Given the description of an element on the screen output the (x, y) to click on. 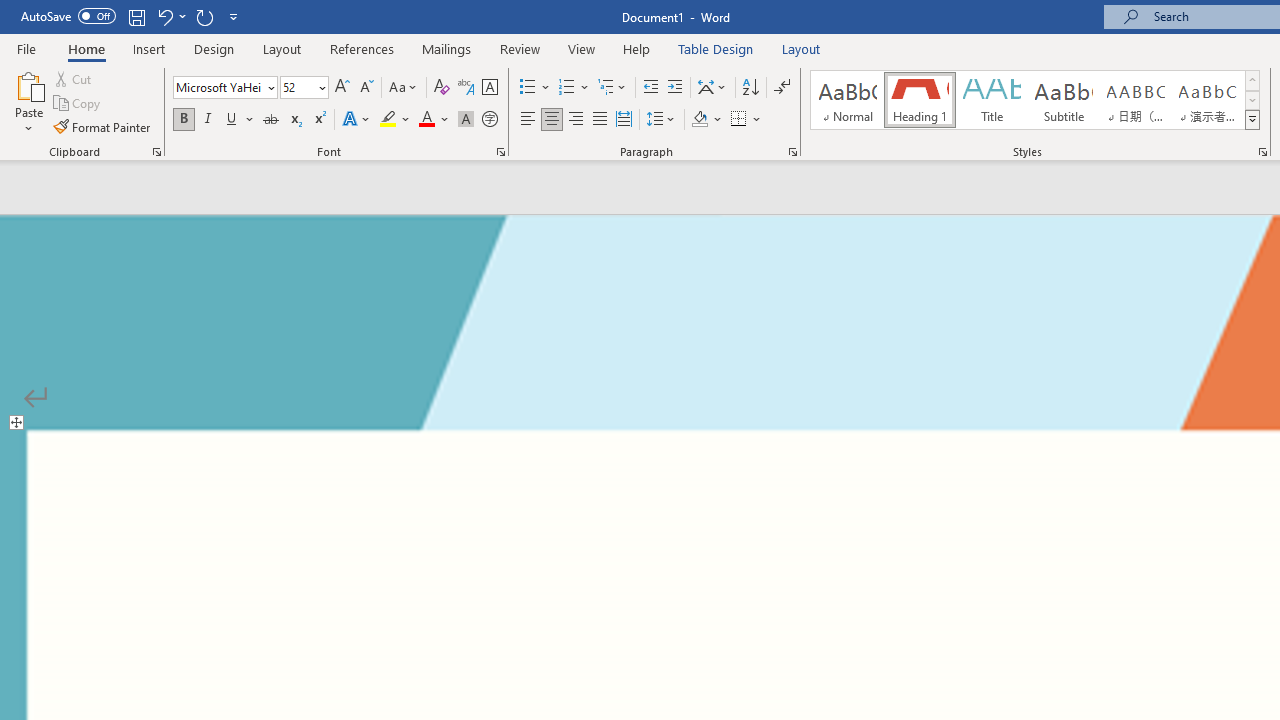
Strikethrough (270, 119)
Font Color Red (426, 119)
Table Design (715, 48)
Center (552, 119)
Decrease Indent (650, 87)
Office Clipboard... (156, 151)
Font... (500, 151)
Show/Hide Editing Marks (781, 87)
Repeat Typing (204, 15)
Character Border (489, 87)
